Given the description of an element on the screen output the (x, y) to click on. 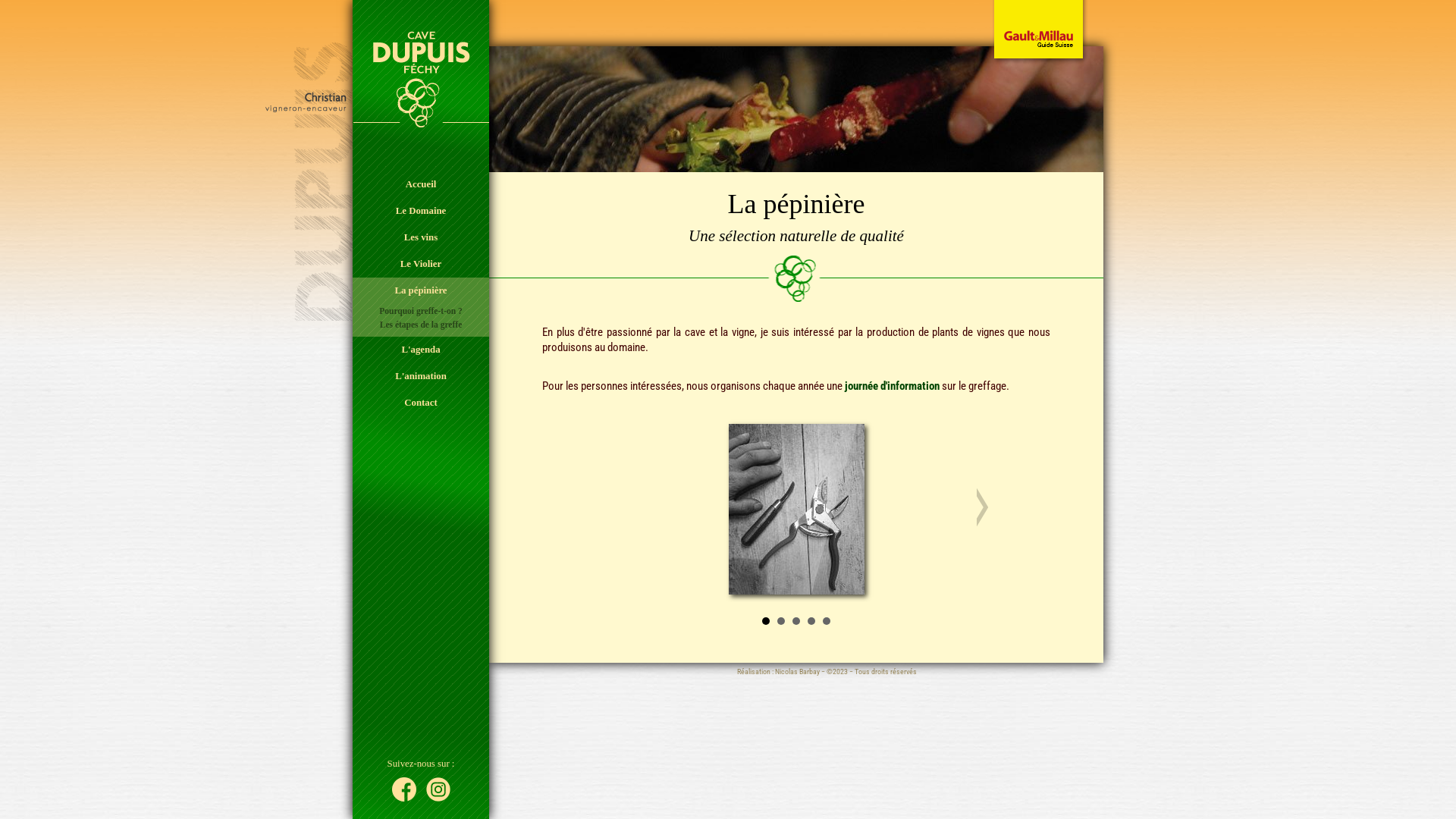
Le Domaine Element type: text (420, 210)
1 Element type: text (765, 620)
5 Element type: text (826, 620)
L'agenda Element type: text (420, 349)
Accueil Element type: text (420, 184)
3 Element type: text (796, 620)
Contact Element type: text (420, 402)
L'animation Element type: text (420, 376)
4 Element type: text (811, 620)
Le Violier Element type: text (420, 264)
Pourquoi greffe-t-on ? Element type: text (420, 310)
2 Element type: text (780, 620)
Next Element type: text (981, 507)
Les vins Element type: text (420, 237)
